Given the description of an element on the screen output the (x, y) to click on. 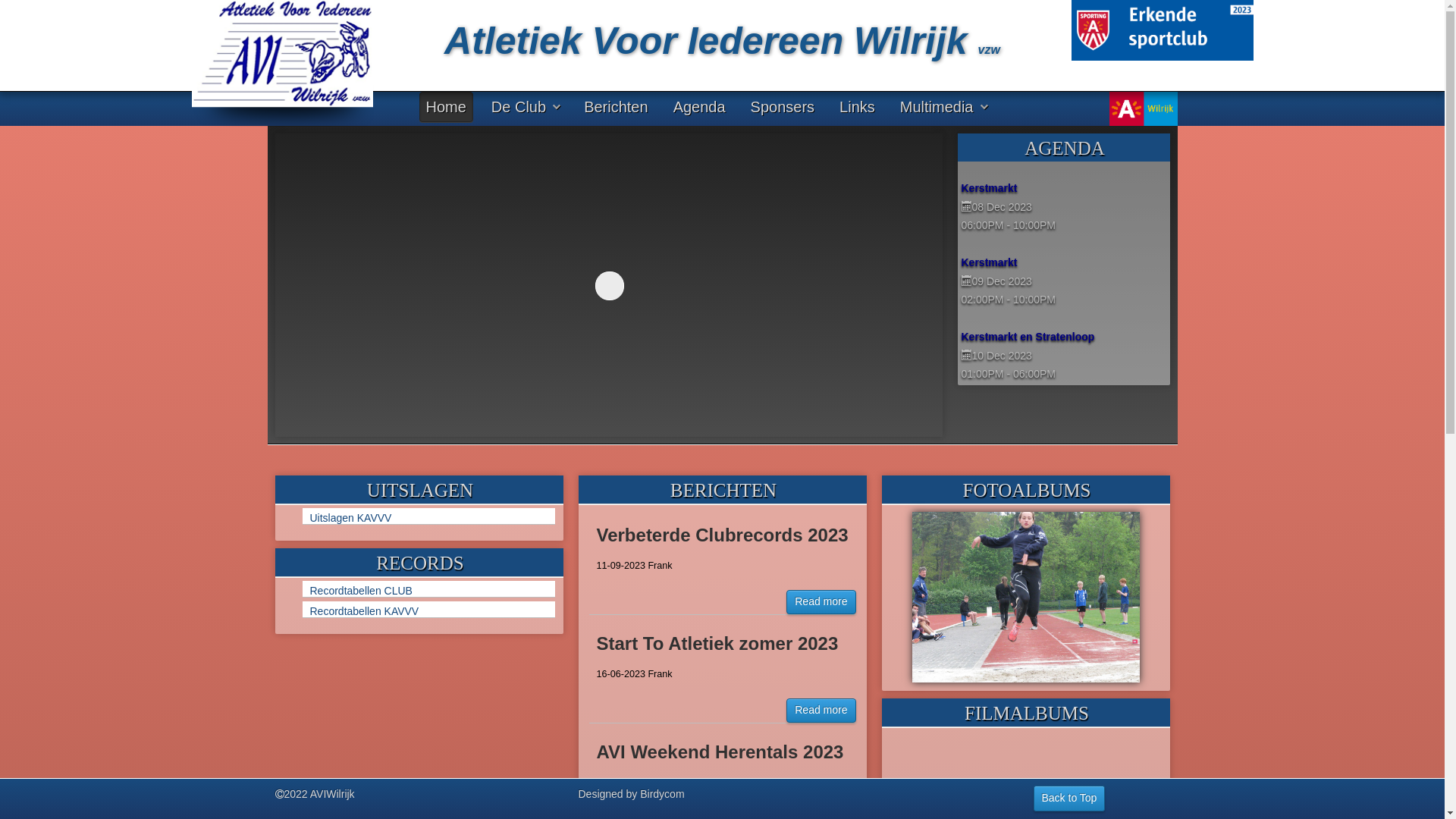
Kerstmarkt Element type: text (1065, 263)
Kerstmarkt Element type: text (1065, 188)
Links Element type: text (857, 106)
Kerstmarkt en Stratenloop Element type: text (1065, 337)
Sponsers Element type: text (782, 106)
Read more Element type: text (820, 710)
Recordtabellen KAVVV Element type: text (431, 611)
Multimedia Element type: text (943, 106)
De Club Element type: text (524, 106)
Berichten Element type: text (615, 106)
Uitslagen KAVVV Element type: text (431, 517)
Recordtabellen CLUB Element type: text (431, 590)
Read more Element type: text (820, 601)
Agenda Element type: text (699, 106)
Home Element type: text (446, 106)
Back to Top Element type: text (1068, 798)
